Given the description of an element on the screen output the (x, y) to click on. 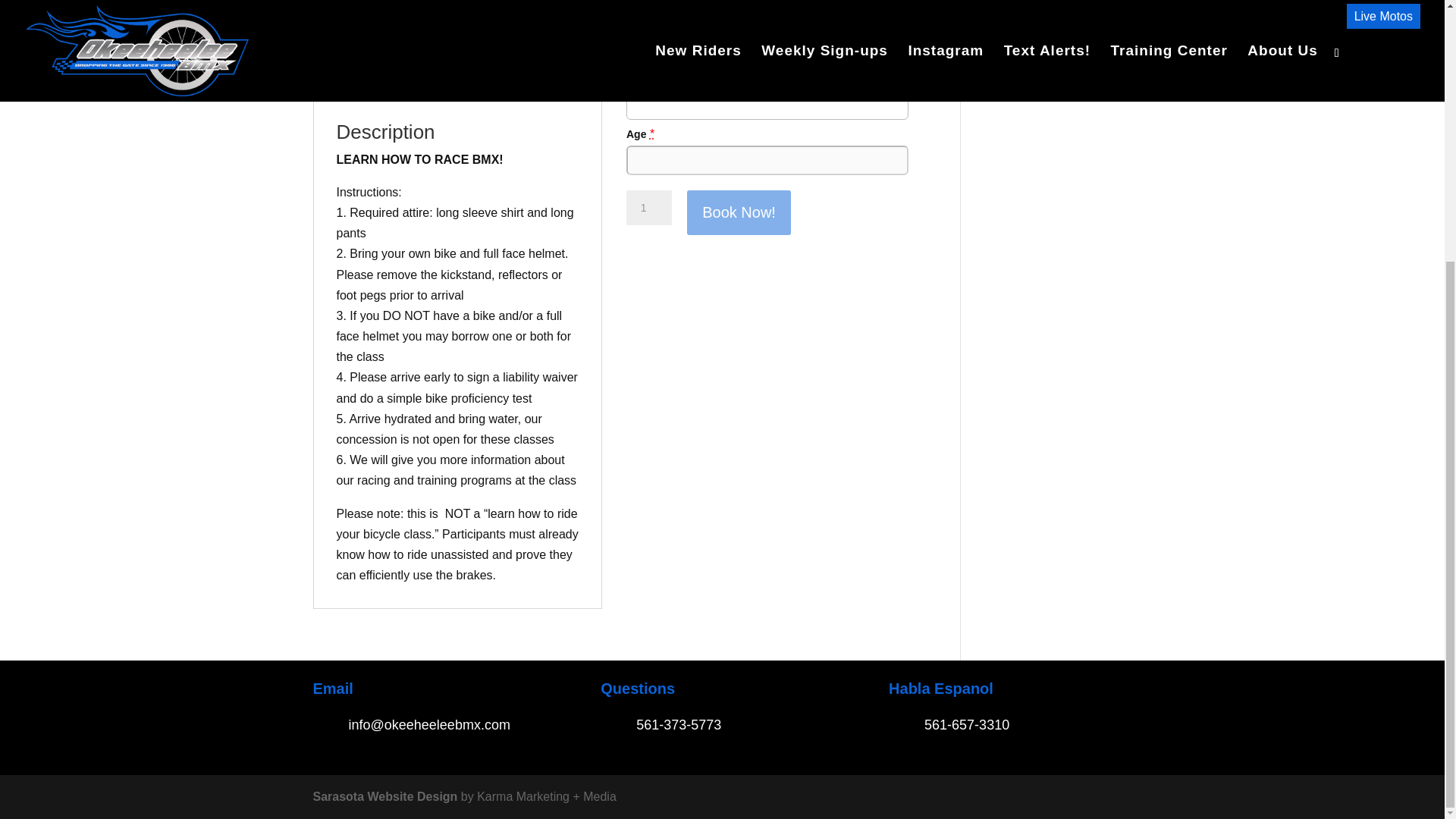
Description (362, 86)
1 (648, 207)
free class (457, 24)
Book Now! (738, 212)
Sarasota Website Design (385, 796)
